Given the description of an element on the screen output the (x, y) to click on. 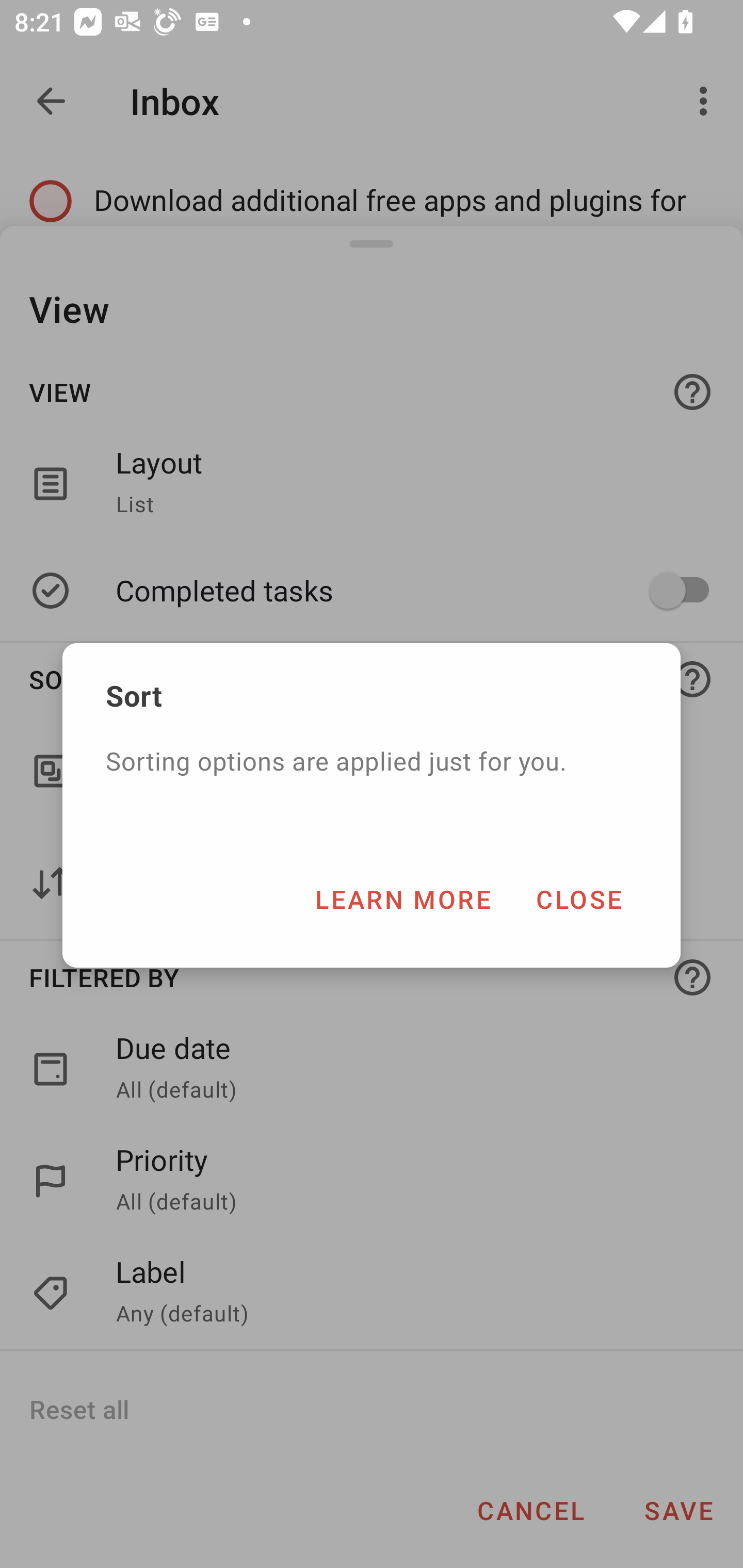
LEARN MORE (402, 899)
CLOSE (578, 899)
